Given the description of an element on the screen output the (x, y) to click on. 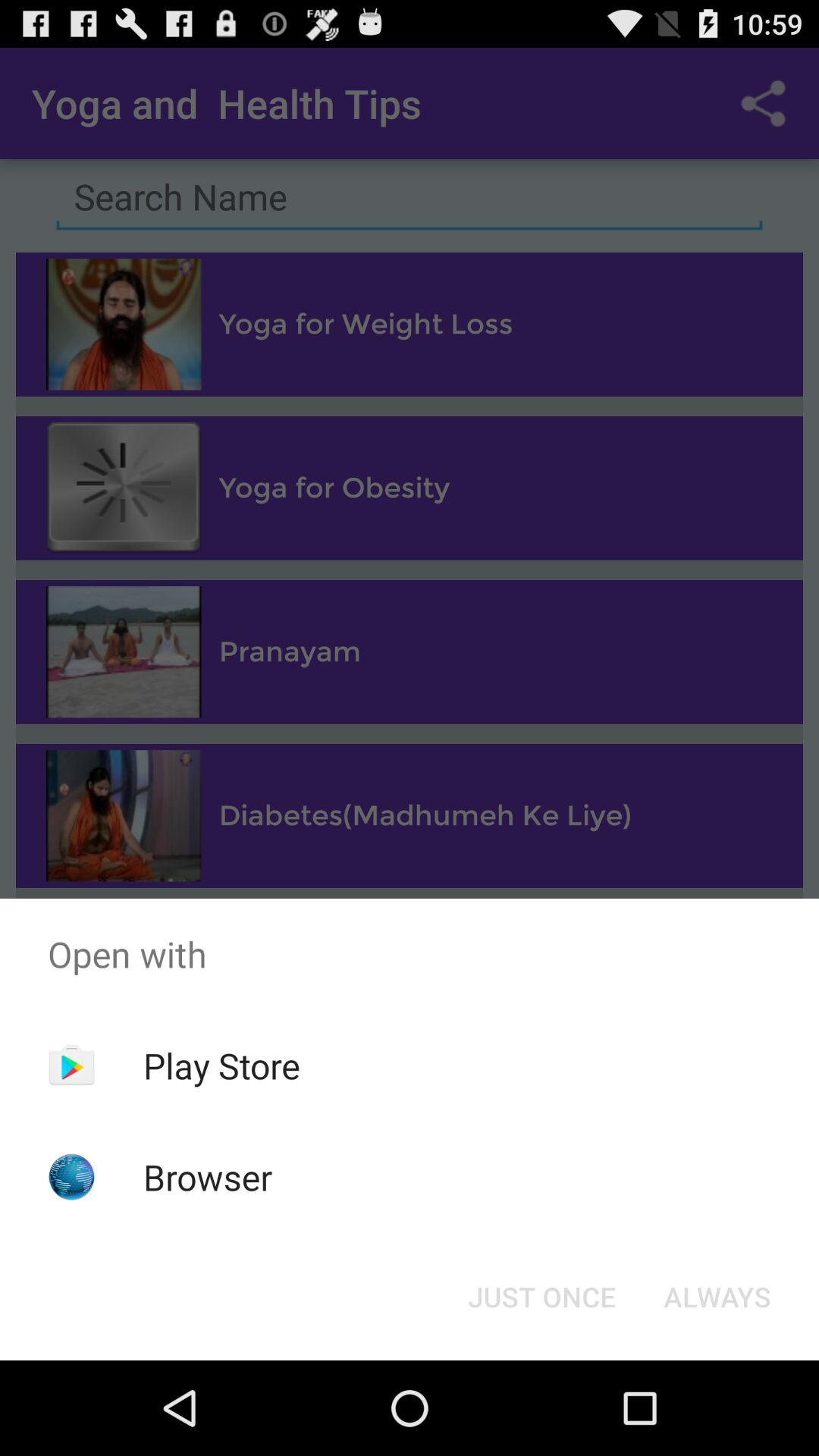
swipe to just once icon (541, 1296)
